Given the description of an element on the screen output the (x, y) to click on. 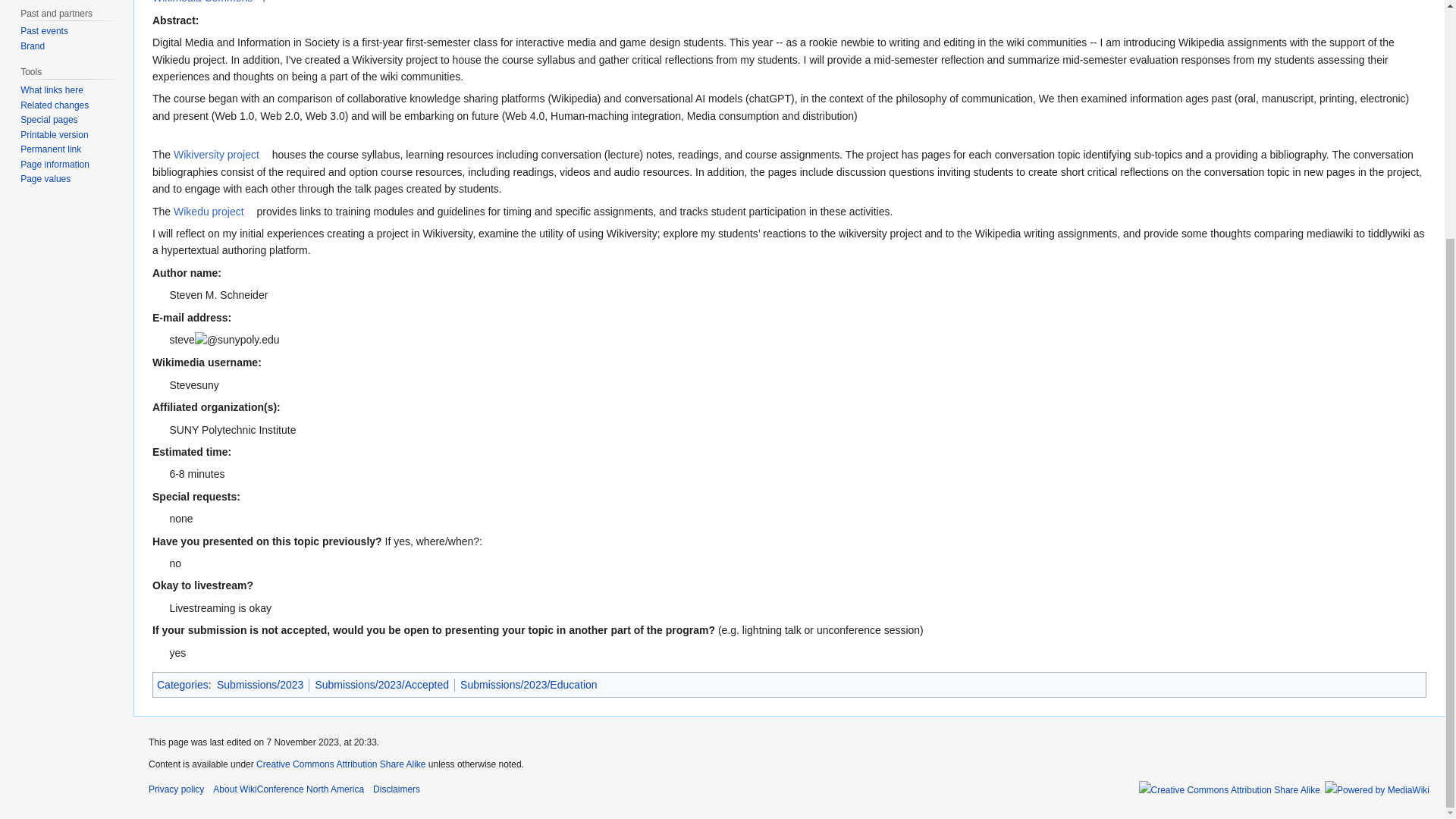
Past events (44, 30)
Related changes (54, 104)
Wikiversity project (221, 154)
Special pages (48, 119)
Wikedu project (213, 211)
Special:Categories (182, 684)
Brand (32, 45)
Wikimedia Commons (207, 2)
Categories (182, 684)
Printable version (53, 134)
